Given the description of an element on the screen output the (x, y) to click on. 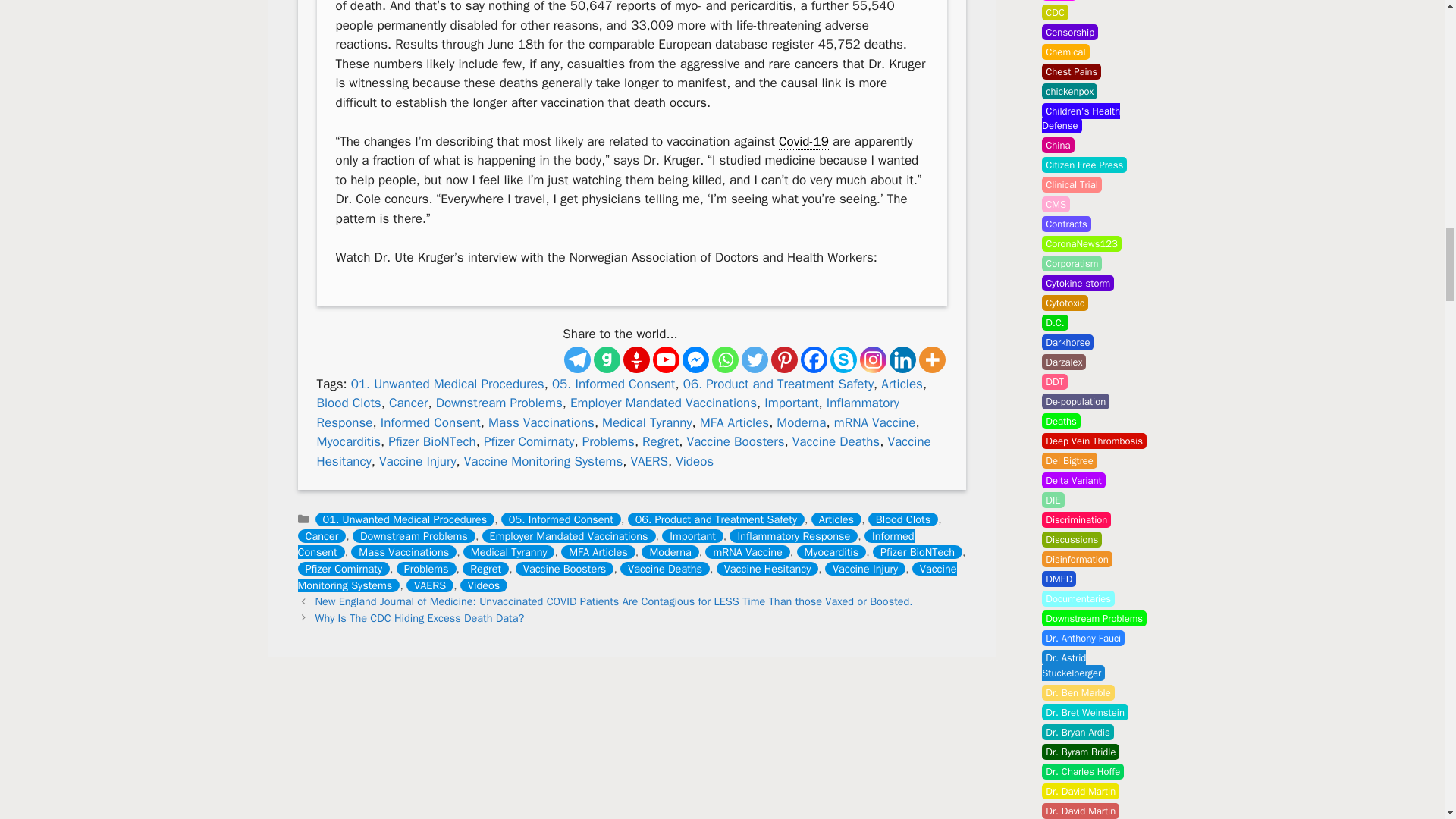
Youtube (665, 359)
Telegram (577, 359)
Gettr (636, 359)
Gab (607, 359)
